Given the description of an element on the screen output the (x, y) to click on. 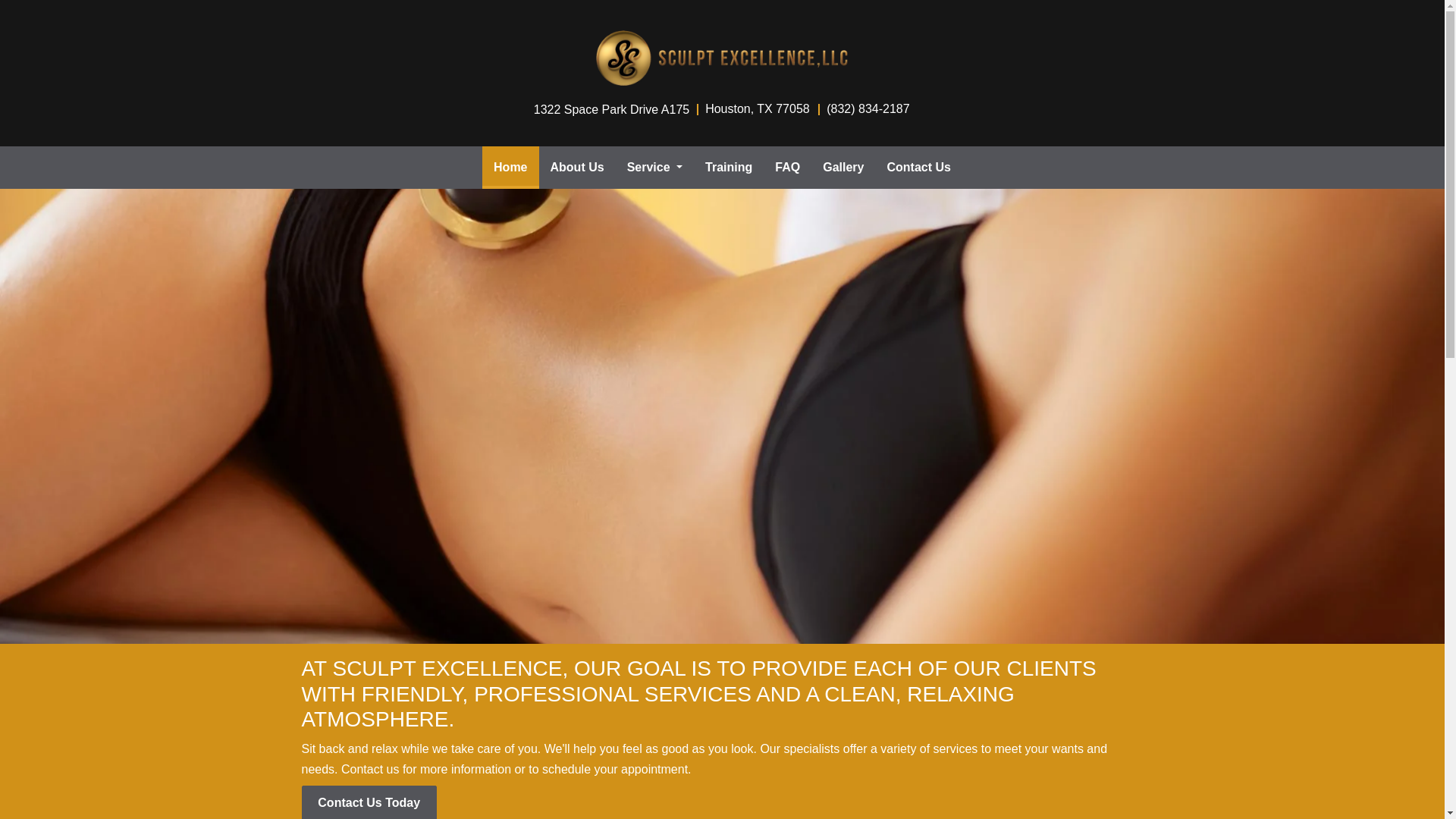
Contact Us Today (368, 802)
Gallery (842, 167)
Training (728, 167)
FAQ (786, 167)
Contact Us (917, 167)
About Us (576, 167)
Service (654, 167)
